Given the description of an element on the screen output the (x, y) to click on. 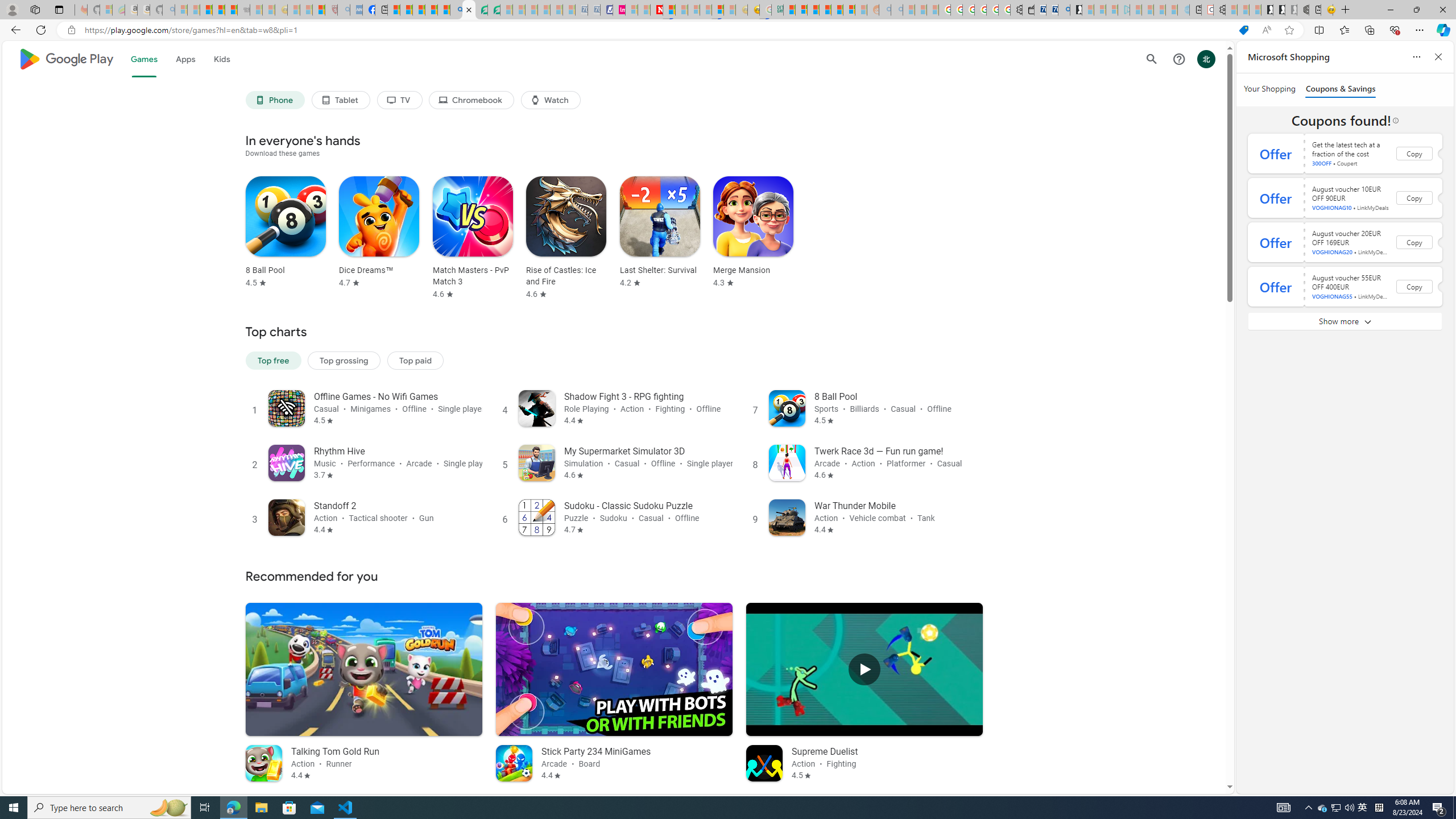
Apps (185, 58)
Utah sues federal government - Search - Sleeping (896, 9)
New Report Confirms 2023 Was Record Hot | Watch (230, 9)
Rise of Castles: Ice and Fire4.6 (562, 238)
list of asthma inhalers uk - Search - Sleeping (344, 9)
